Given the description of an element on the screen output the (x, y) to click on. 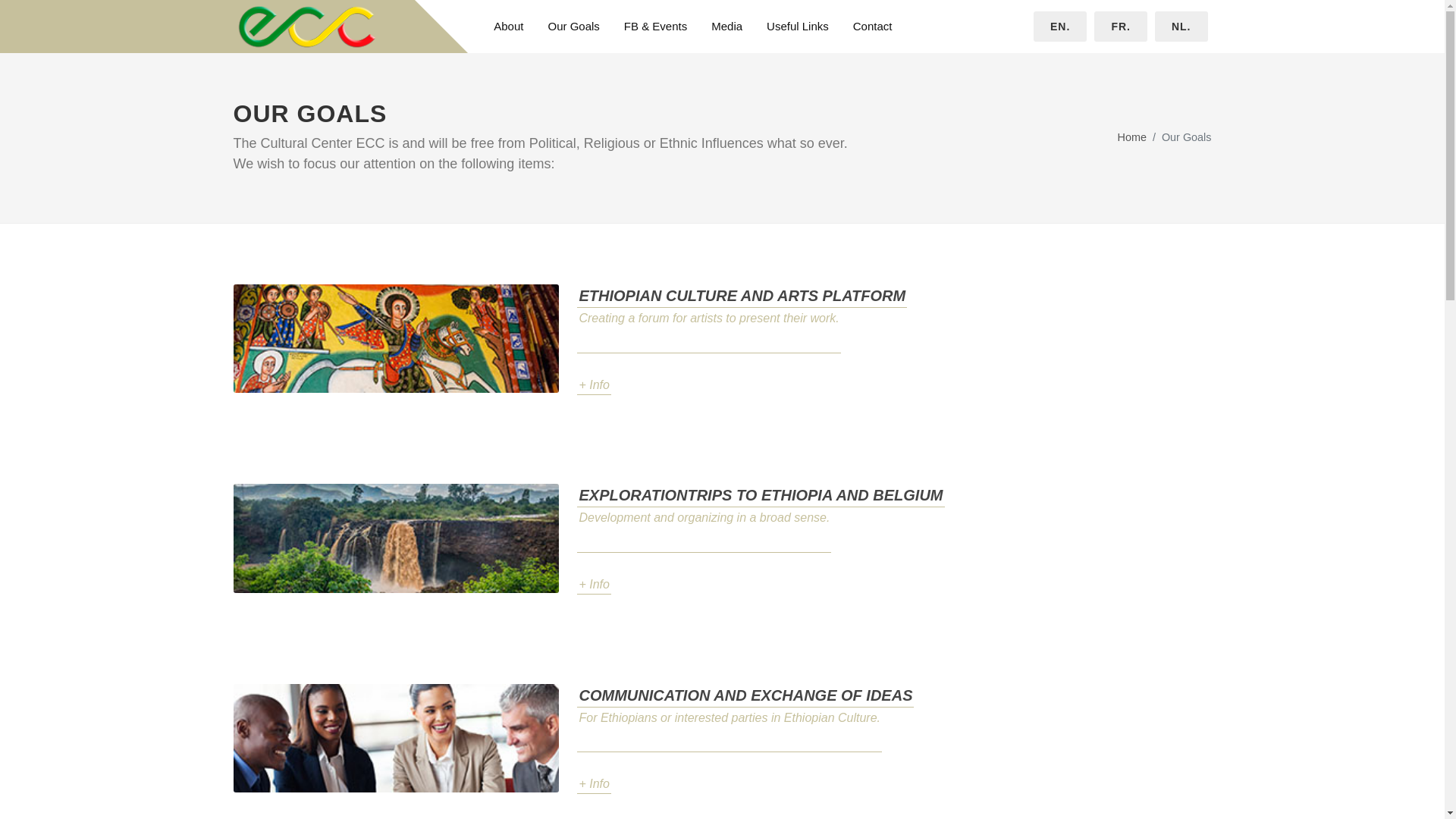
About (507, 26)
FR. (1120, 26)
Creating a forum for artists to present their work. (708, 329)
ETHIOPIAN CULTURE AND ARTS PLATFORM (741, 295)
Contact (872, 26)
EXPLORATIONTRIPS TO ETHIOPIA AND BELGIUM (759, 495)
EN. (1059, 26)
Our Goals (572, 26)
Development and organizing in a broad sense. (703, 529)
Home (1132, 137)
Media (727, 26)
COMMUNICATION AND EXCHANGE OF IDEAS (745, 695)
NL. (1181, 26)
Useful Links (797, 26)
For Ethiopians or interested parties in Ethiopian Culture. (729, 729)
